Given the description of an element on the screen output the (x, y) to click on. 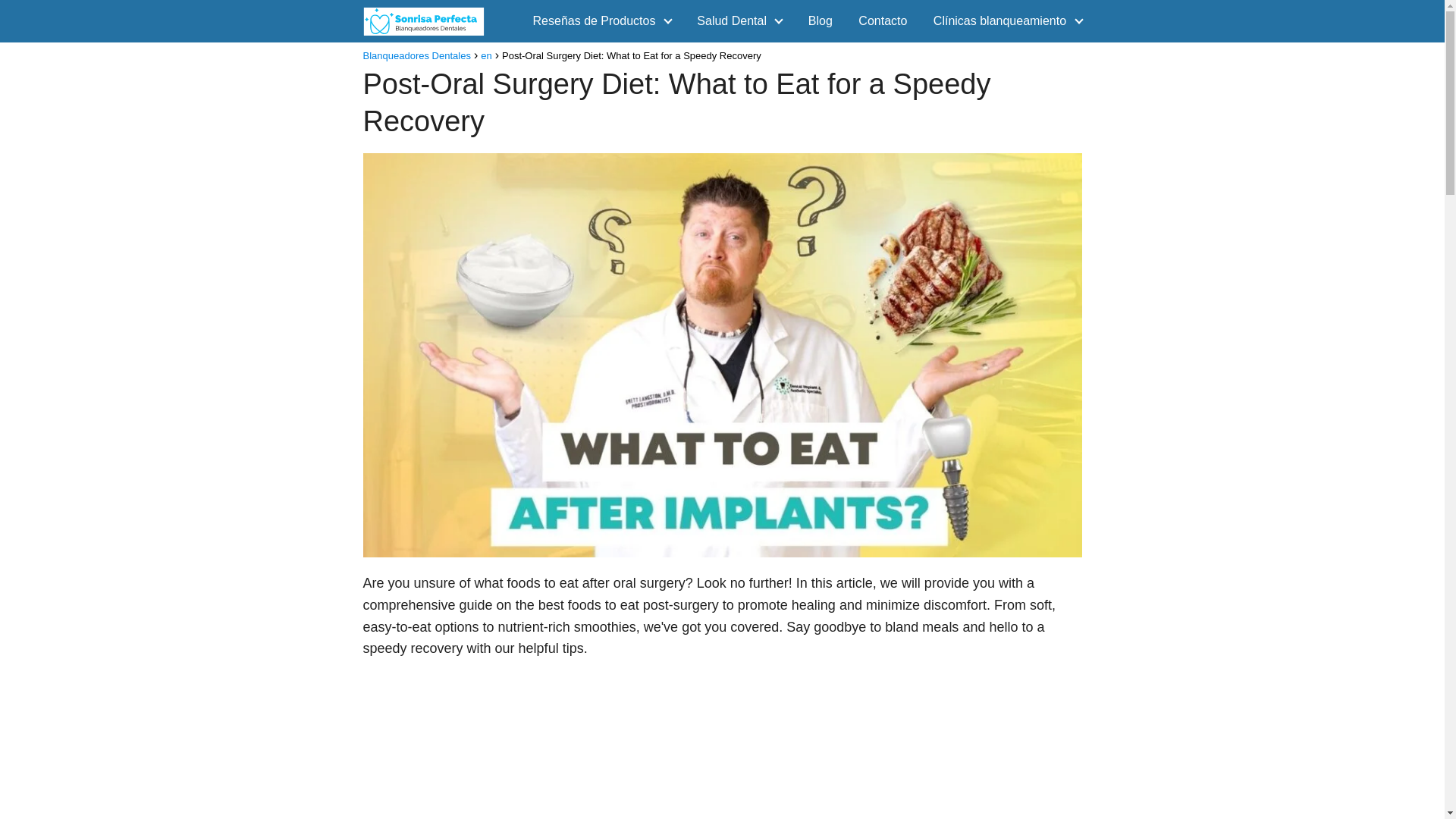
Contacto (883, 20)
Blog (820, 20)
Salud Dental (735, 20)
